Given the description of an element on the screen output the (x, y) to click on. 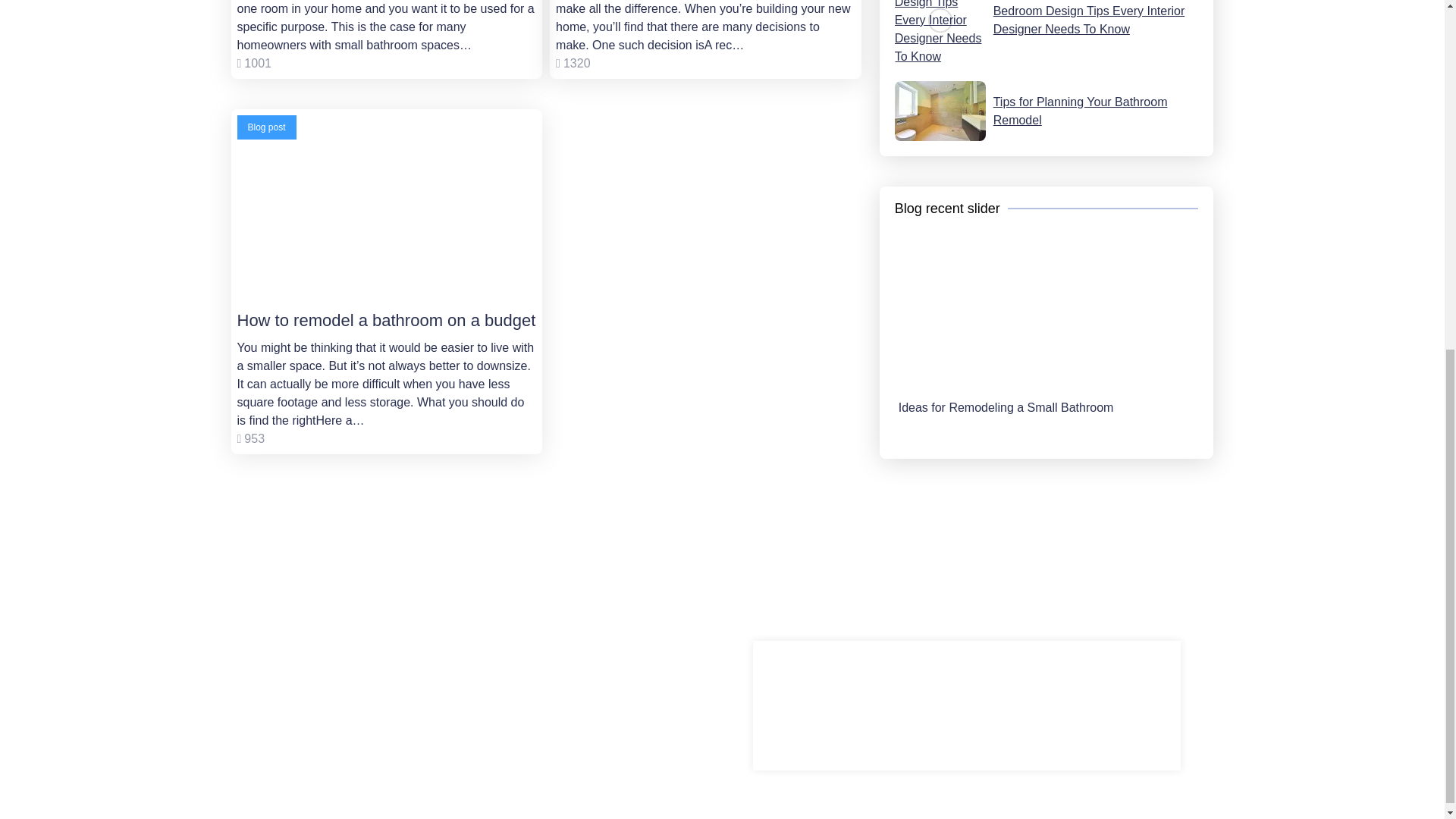
Tips for Planning Your Bathroom Remodel (1046, 110)
Views (572, 62)
Views (252, 62)
Views (249, 438)
How to remodel a bathroom on a budget (385, 212)
Bedroom Design Tips Every Interior Designer Needs To Know (1046, 33)
